Given the description of an element on the screen output the (x, y) to click on. 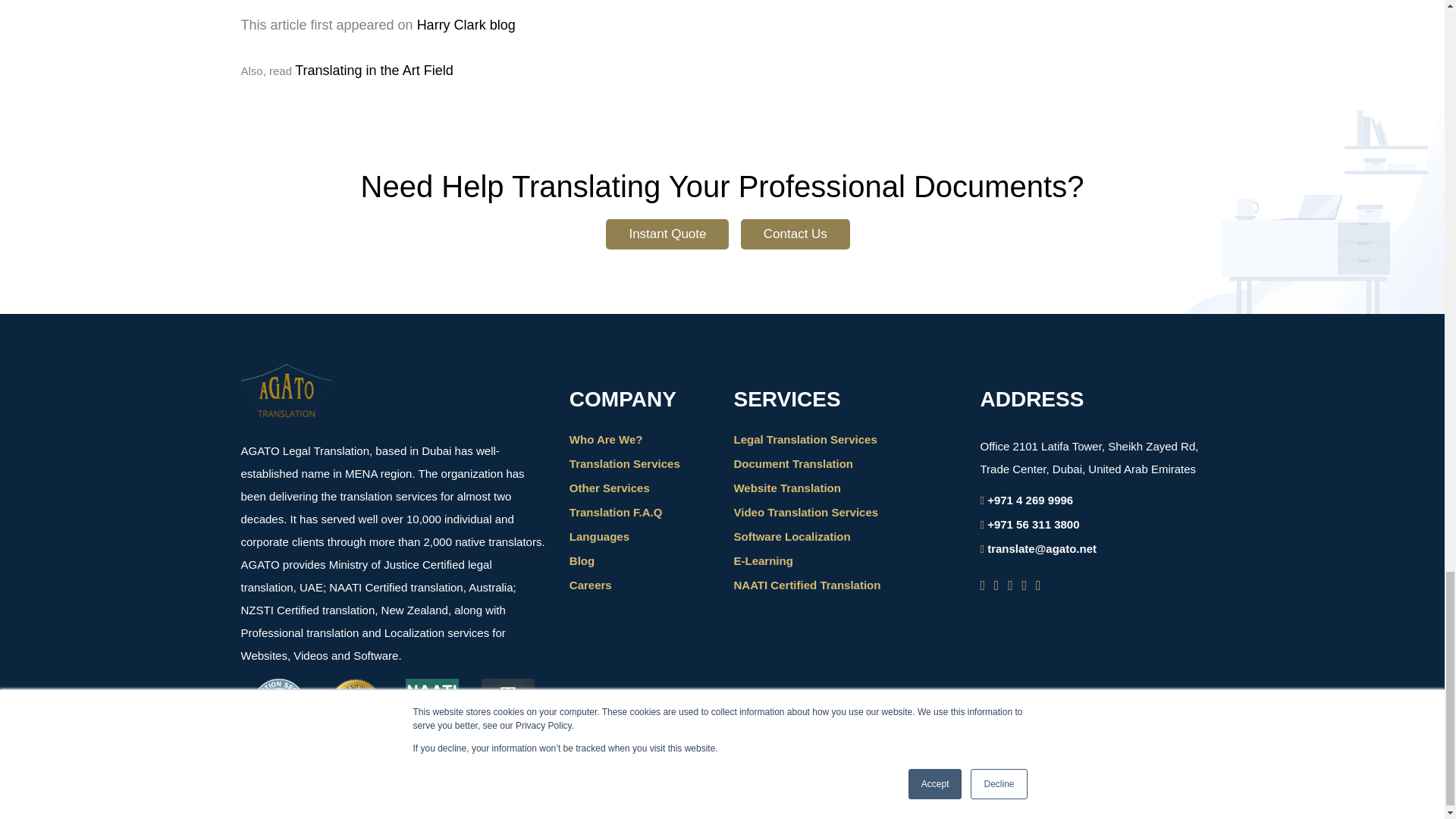
Who Are We? (606, 439)
Languages (598, 535)
Harry Clark blog (465, 24)
Translating in the Art Field (373, 70)
Contact Us (795, 234)
Other Services (609, 487)
Legal Translation Services (804, 439)
Careers (590, 584)
Translation Services (624, 463)
Blog (581, 560)
Translation F.A.Q (615, 512)
Instant Quote (667, 234)
